Given the description of an element on the screen output the (x, y) to click on. 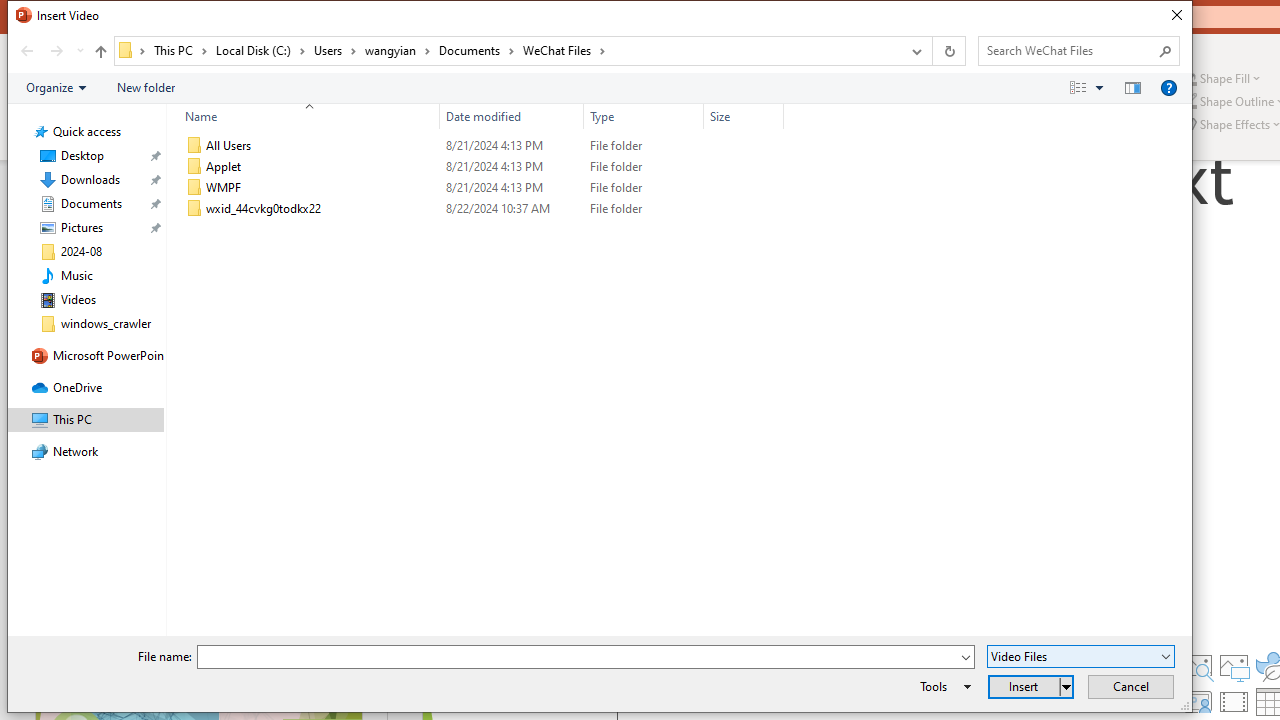
Filter dropdown (775, 115)
Files of type: (1080, 656)
&Help (1168, 87)
Back (Alt + Left Arrow) (26, 51)
Preview pane (1132, 87)
Name (303, 115)
File name: (577, 657)
Date modified (511, 115)
Refresh "WeChat Files" (F5) (948, 51)
